Given the description of an element on the screen output the (x, y) to click on. 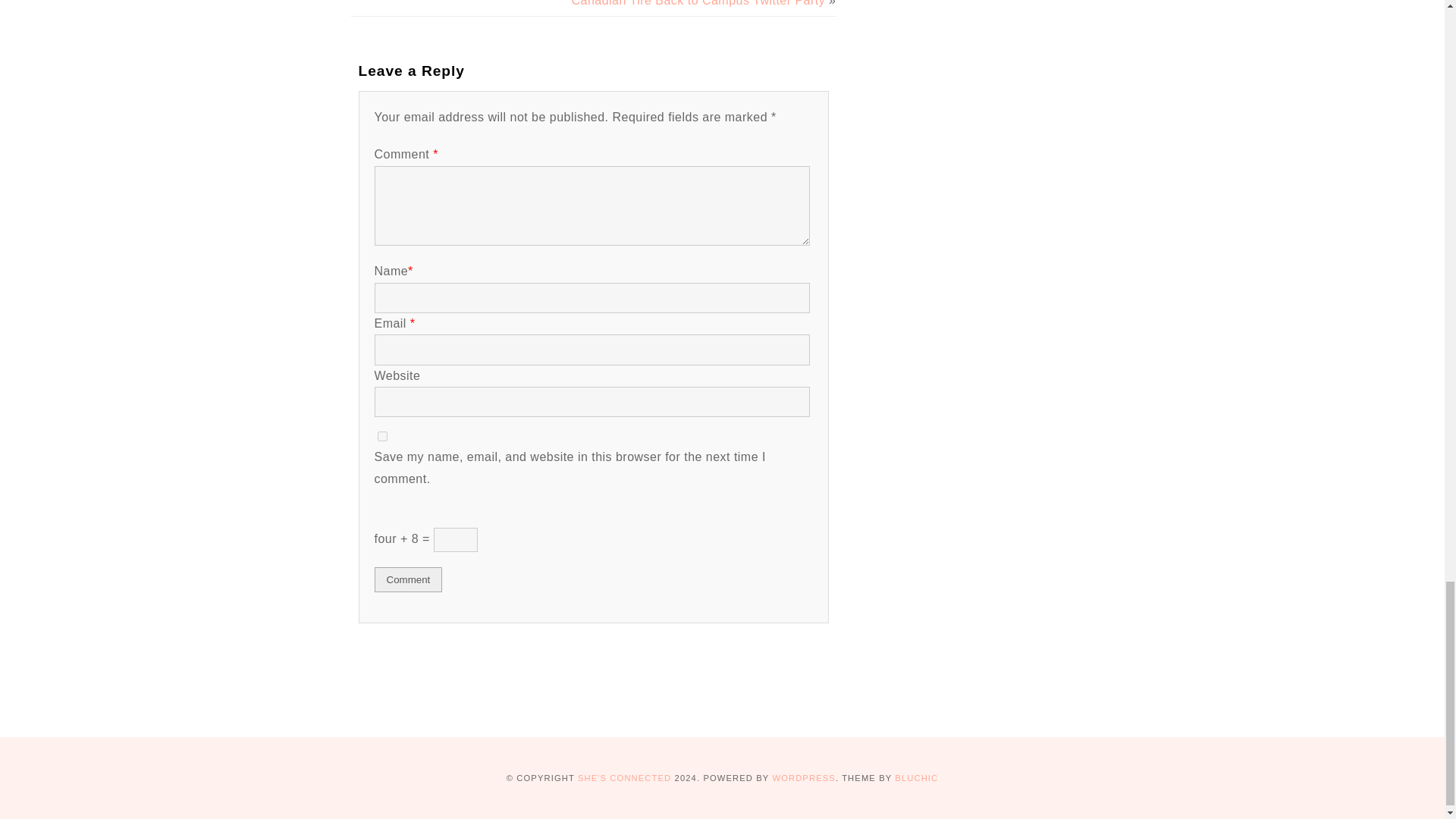
Comment (408, 579)
yes (382, 436)
Canadian Tire Back to Campus Twitter Party (698, 3)
Comment (408, 579)
BLUCHIC (916, 777)
WORDPRESS (802, 777)
SHE'S CONNECTED (624, 777)
